Given the description of an element on the screen output the (x, y) to click on. 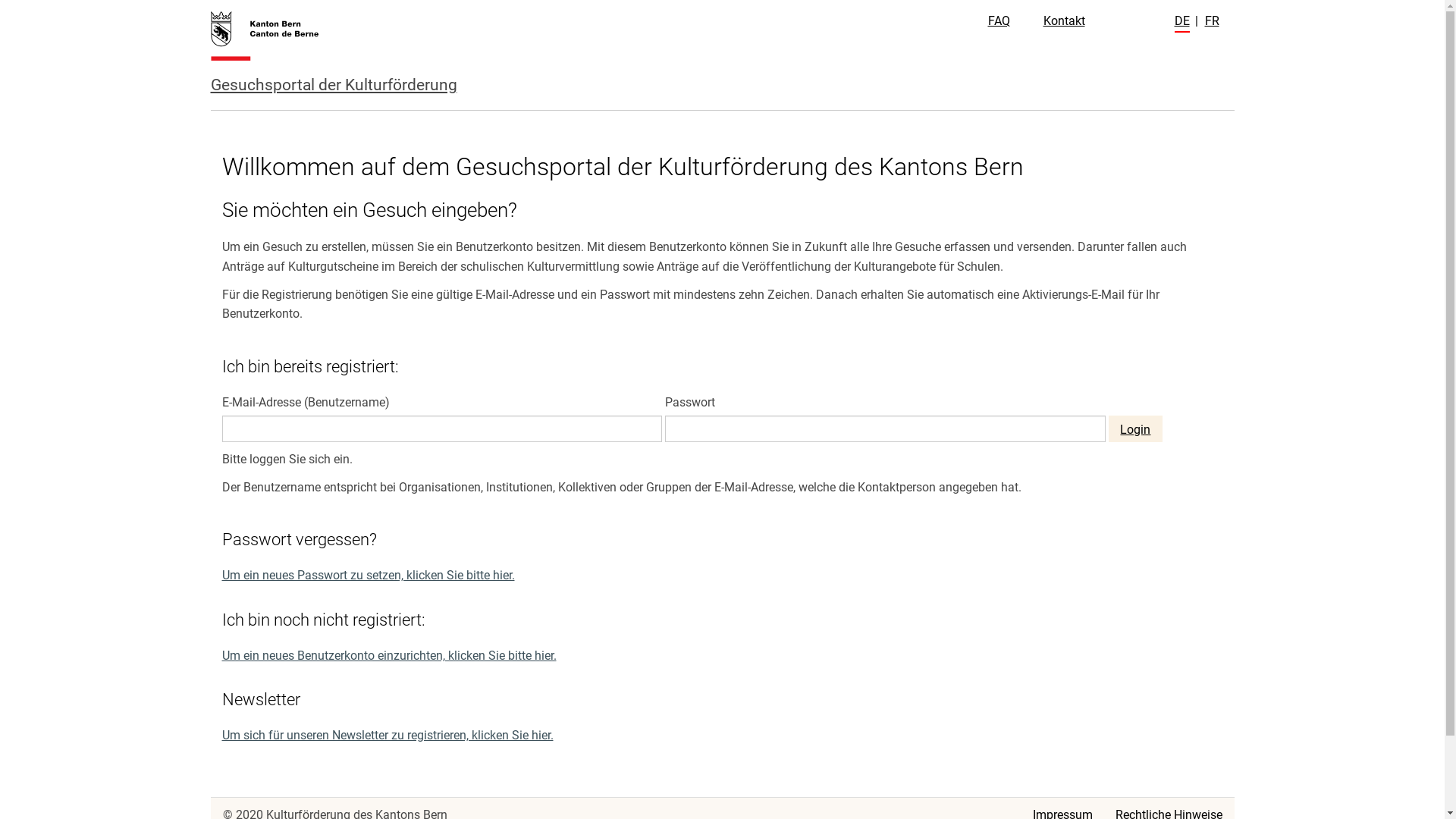
DE Element type: text (1181, 21)
Kontakt Element type: text (1064, 20)
Login Element type: text (1135, 428)
FAQ Element type: text (998, 20)
Um ein neues Passwort zu setzen, klicken Sie bitte hier. Element type: text (367, 574)
FR Element type: text (1211, 21)
